Given the description of an element on the screen output the (x, y) to click on. 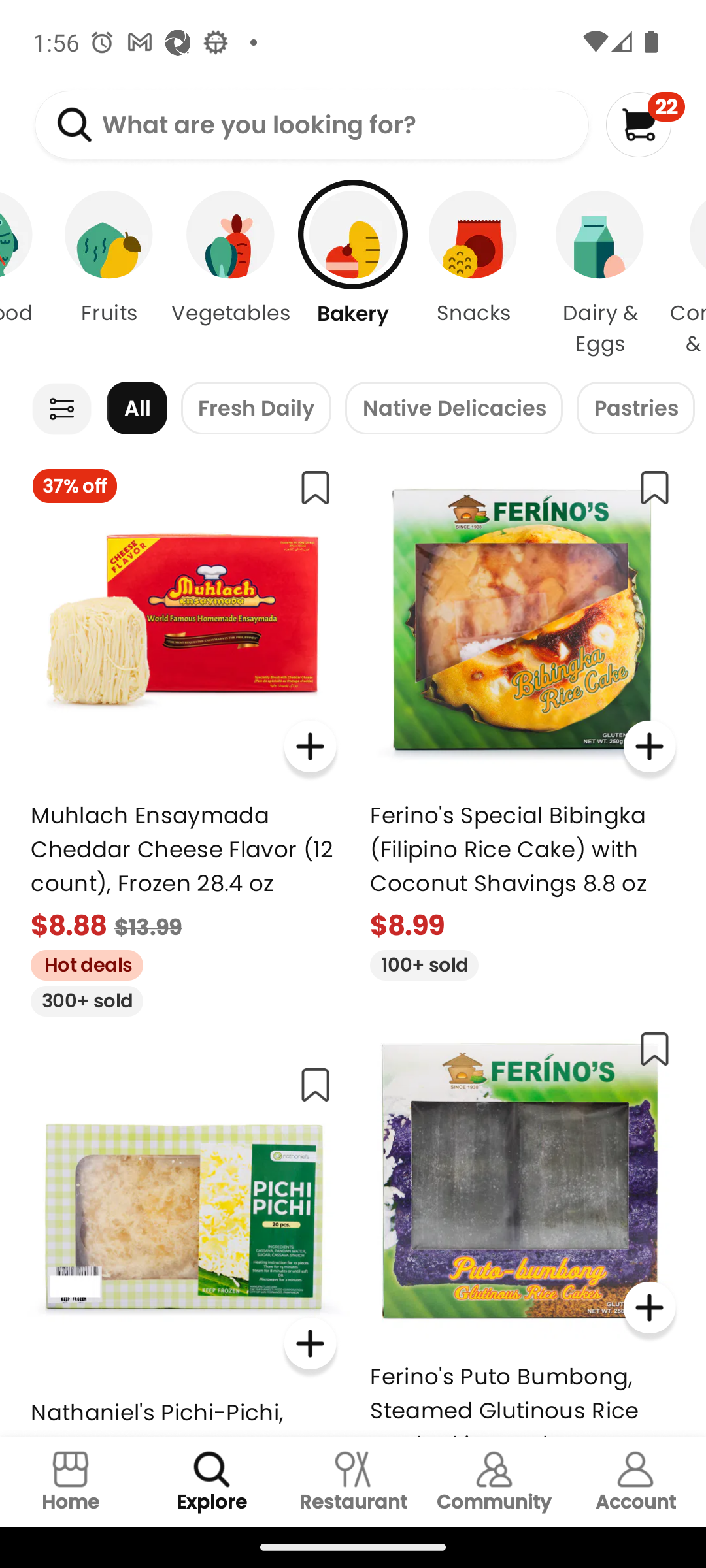
What are you looking for? (311, 124)
22 (644, 124)
Fruits (108, 274)
Vegetables (230, 274)
Bakery (352, 274)
Snacks (473, 274)
Dairy & Eggs (600, 274)
All (136, 407)
Fresh Daily (255, 407)
Native Delicacies (453, 407)
Pastries (635, 407)
Hot deals (79, 961)
Nathaniel's Pichi-Pichi, Frozen 600 g (182, 1243)
Home (70, 1482)
Explore (211, 1482)
Restaurant (352, 1482)
Community (493, 1482)
Account (635, 1482)
